Given the description of an element on the screen output the (x, y) to click on. 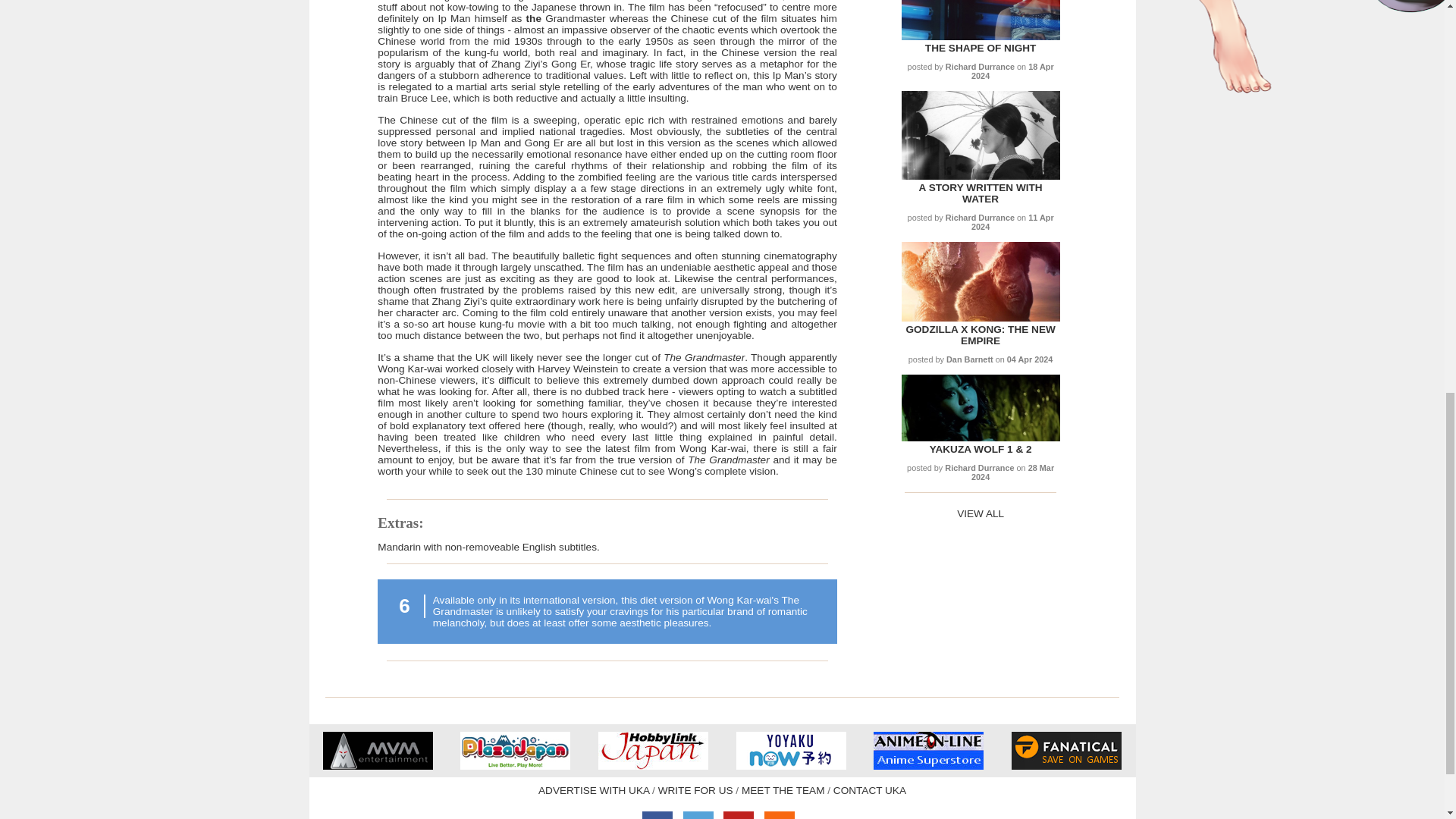
Anime Distributor (377, 766)
GODZILLA X KONG: THE NEW EMPIRE (979, 334)
VIEW ALL (980, 513)
A STORY WRITTEN WITH WATER (980, 192)
Godzilla x Kong: The New Empire (980, 317)
THE SHAPE OF NIGHT (980, 48)
A Story Written with Water (980, 175)
A Story Written with Water (980, 192)
ADVERTISE WITH UKA (593, 790)
Godzilla x Kong: The New Empire (979, 334)
WRITE FOR US (695, 790)
The Shape of Night (980, 36)
The Shape of Night (980, 48)
